Given the description of an element on the screen output the (x, y) to click on. 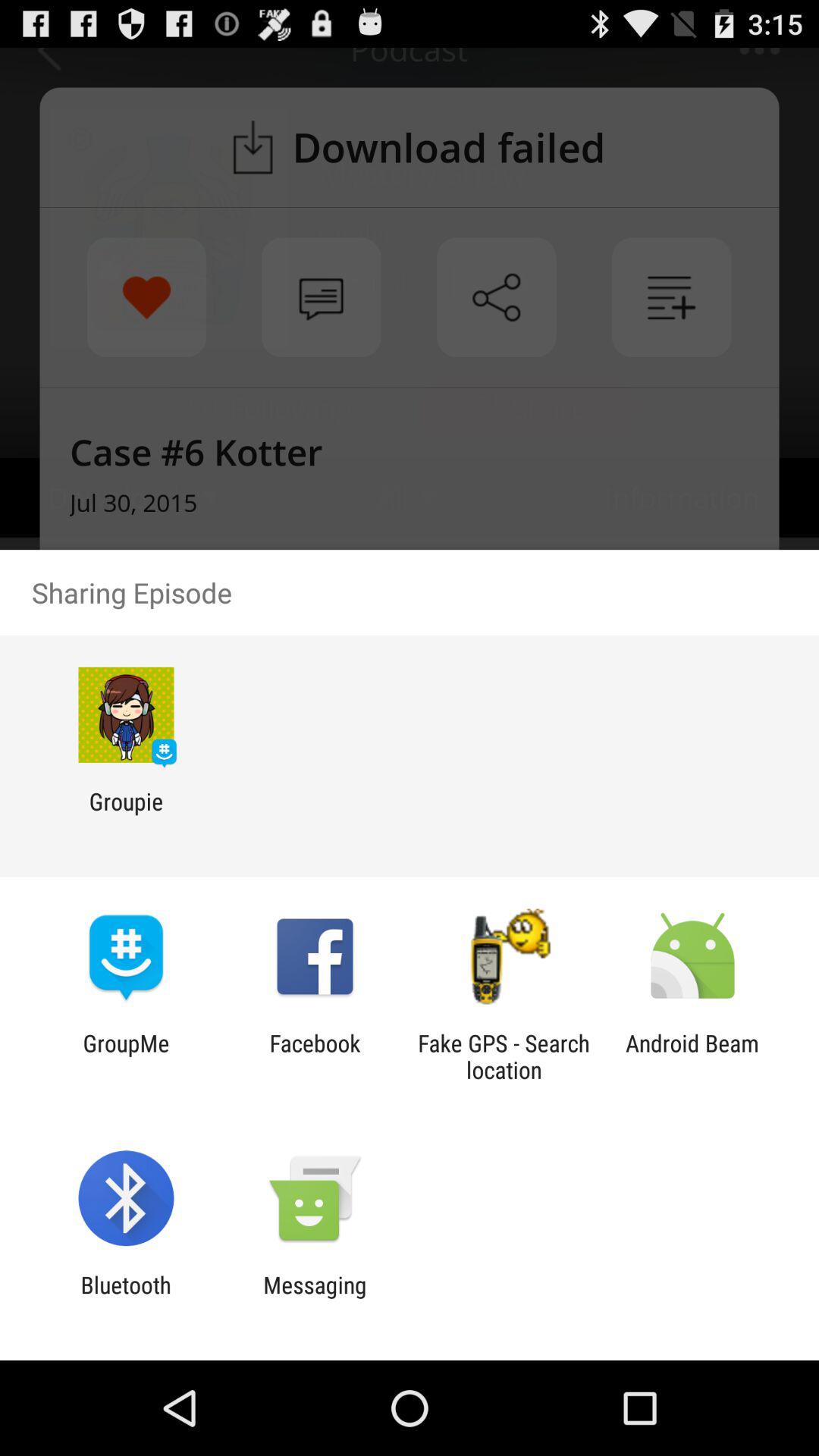
turn off icon to the right of bluetooth (314, 1298)
